Given the description of an element on the screen output the (x, y) to click on. 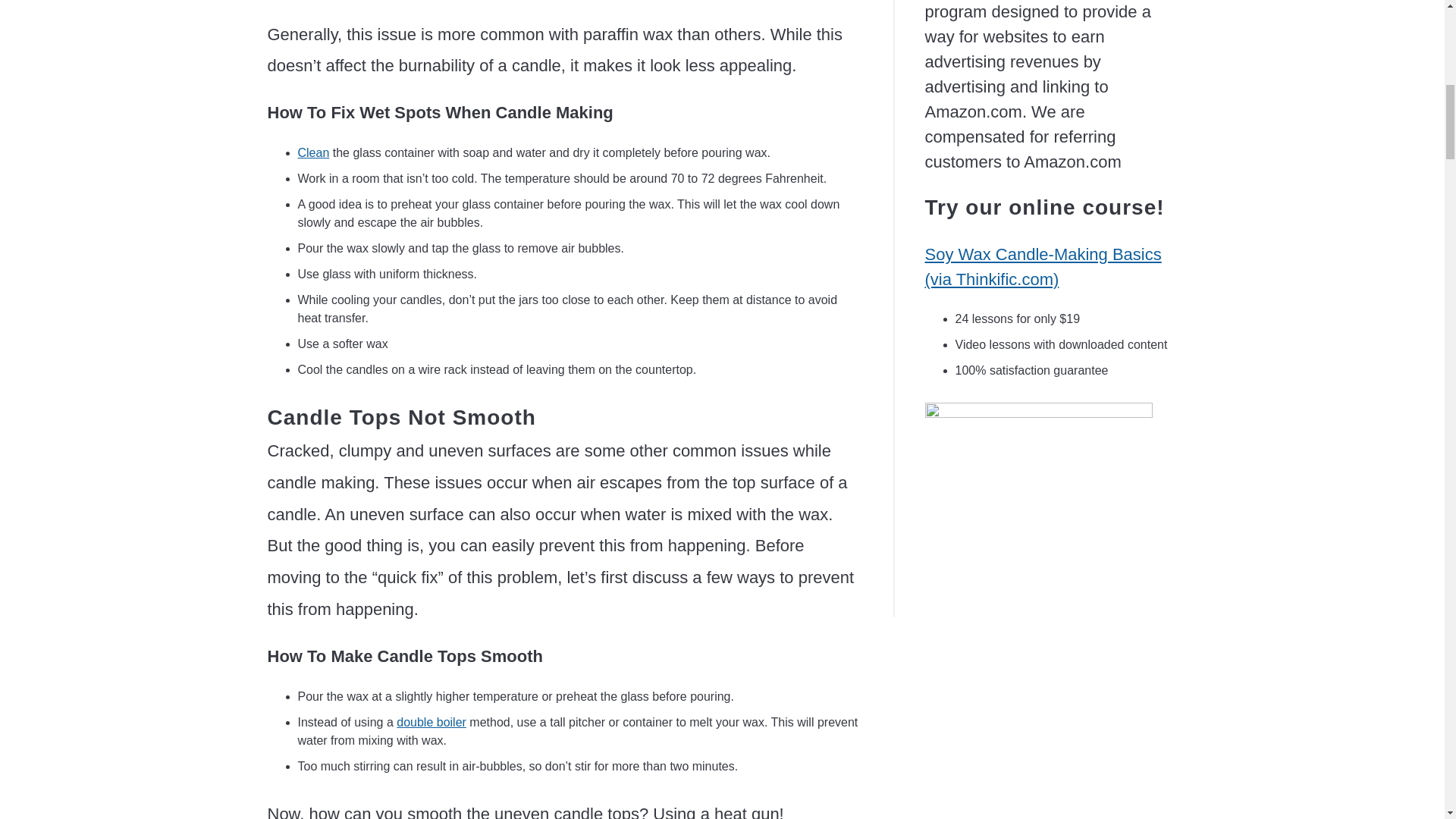
Clean (313, 152)
double boiler (430, 721)
